Given the description of an element on the screen output the (x, y) to click on. 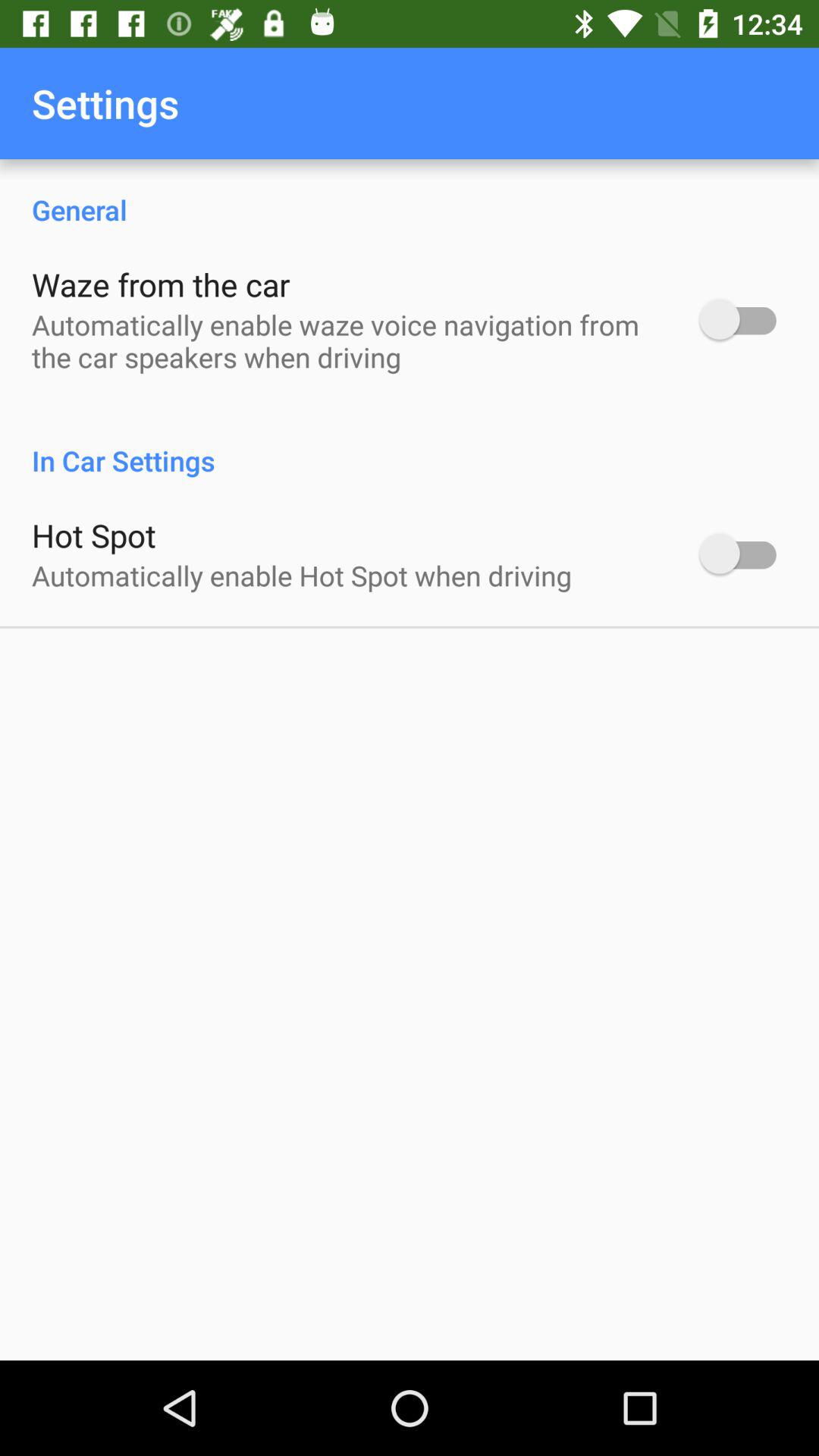
scroll until the in car settings item (409, 444)
